Given the description of an element on the screen output the (x, y) to click on. 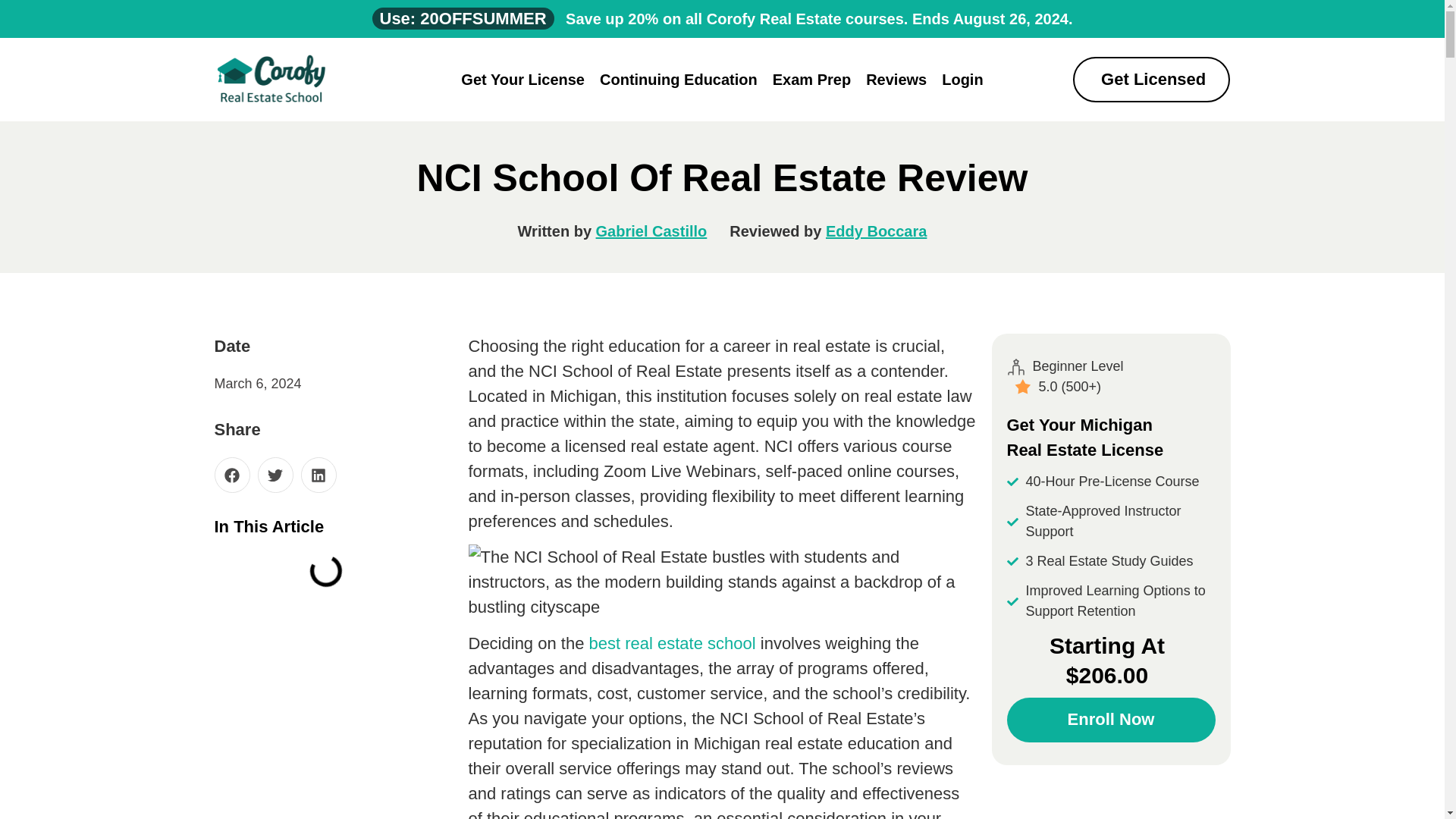
Use: 20OFFSUMMER (462, 18)
Login (962, 78)
best real estate school (671, 642)
Eddy Boccara (875, 230)
Enroll Now (1111, 719)
Reviews (896, 78)
Continuing Education (678, 78)
Get Licensed (1151, 79)
Gabriel Castillo (651, 230)
Get Your License (522, 78)
